Given the description of an element on the screen output the (x, y) to click on. 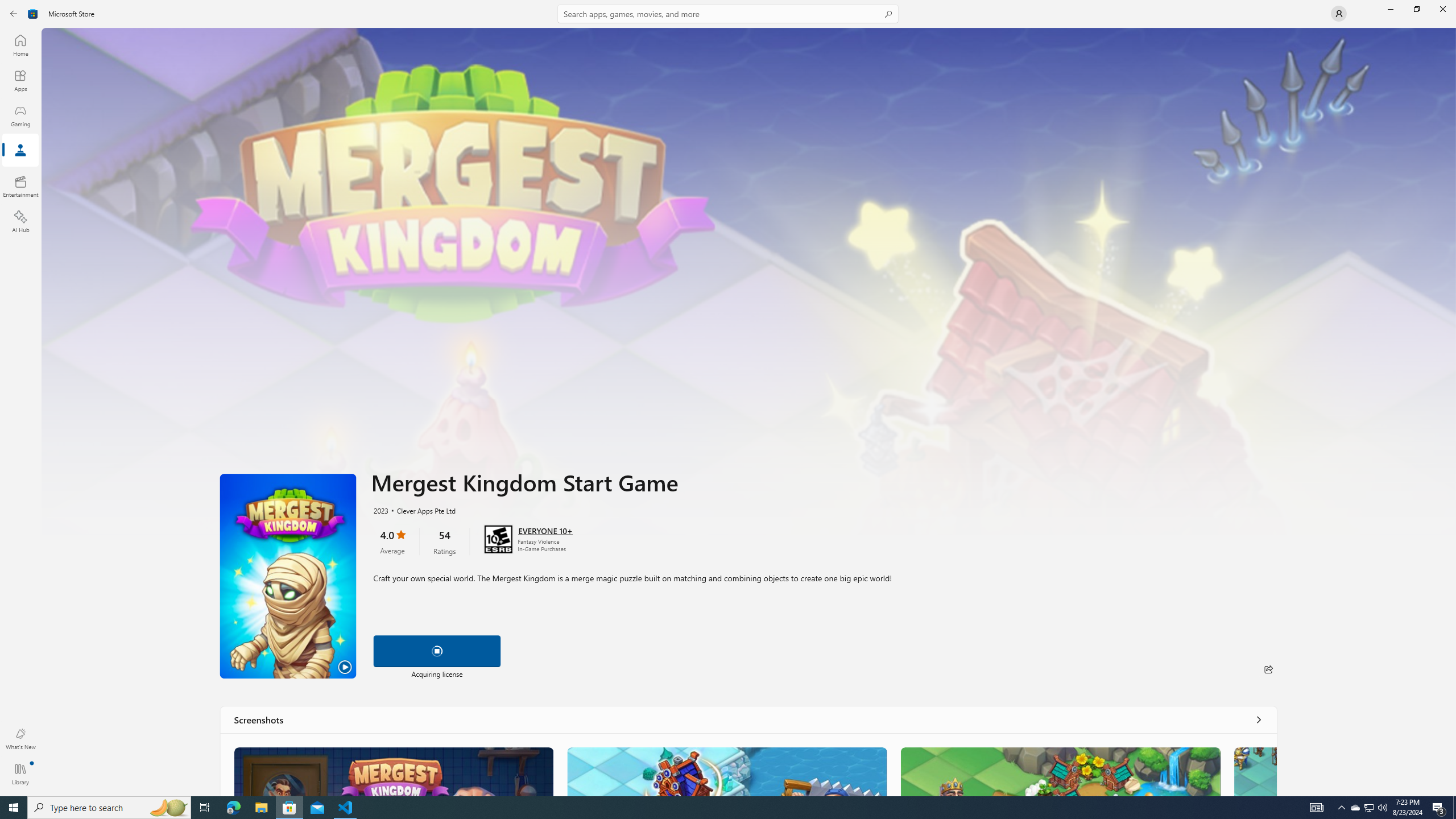
Age rating: EVERYONE 10+. Click for more information. (545, 529)
Library. Updates available (20, 773)
See all (1258, 719)
Merge the way you want! (393, 771)
AutomationID: NavigationControl (728, 398)
Play Trailer (287, 575)
Pause download (436, 651)
AutomationID: LottiePlayer (436, 650)
2023 (379, 510)
4.0 stars. Click to skip to ratings and reviews (392, 541)
